Given the description of an element on the screen output the (x, y) to click on. 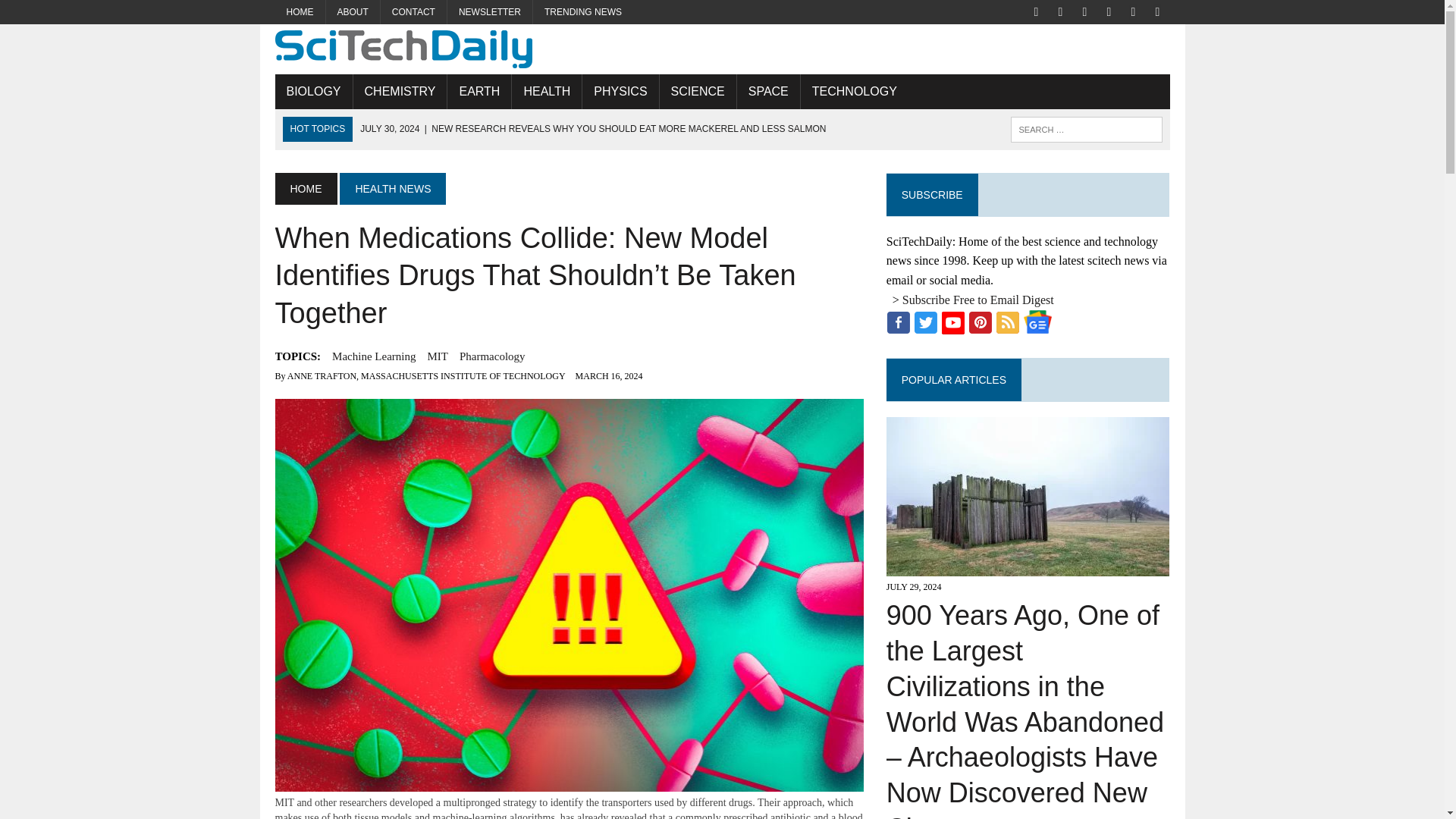
SCIENCE (697, 91)
HOME (299, 12)
CHEMISTRY (399, 91)
BIOLOGY (313, 91)
MIT (437, 356)
ABOUT (353, 12)
Machine Learning (372, 356)
HOME (305, 188)
SciTechDaily (722, 48)
Pharmacology (492, 356)
TECHNOLOGY (854, 91)
SciTechDaily Newsletter (489, 12)
HEALTH NEWS (392, 188)
PHYSICS (620, 91)
